Given the description of an element on the screen output the (x, y) to click on. 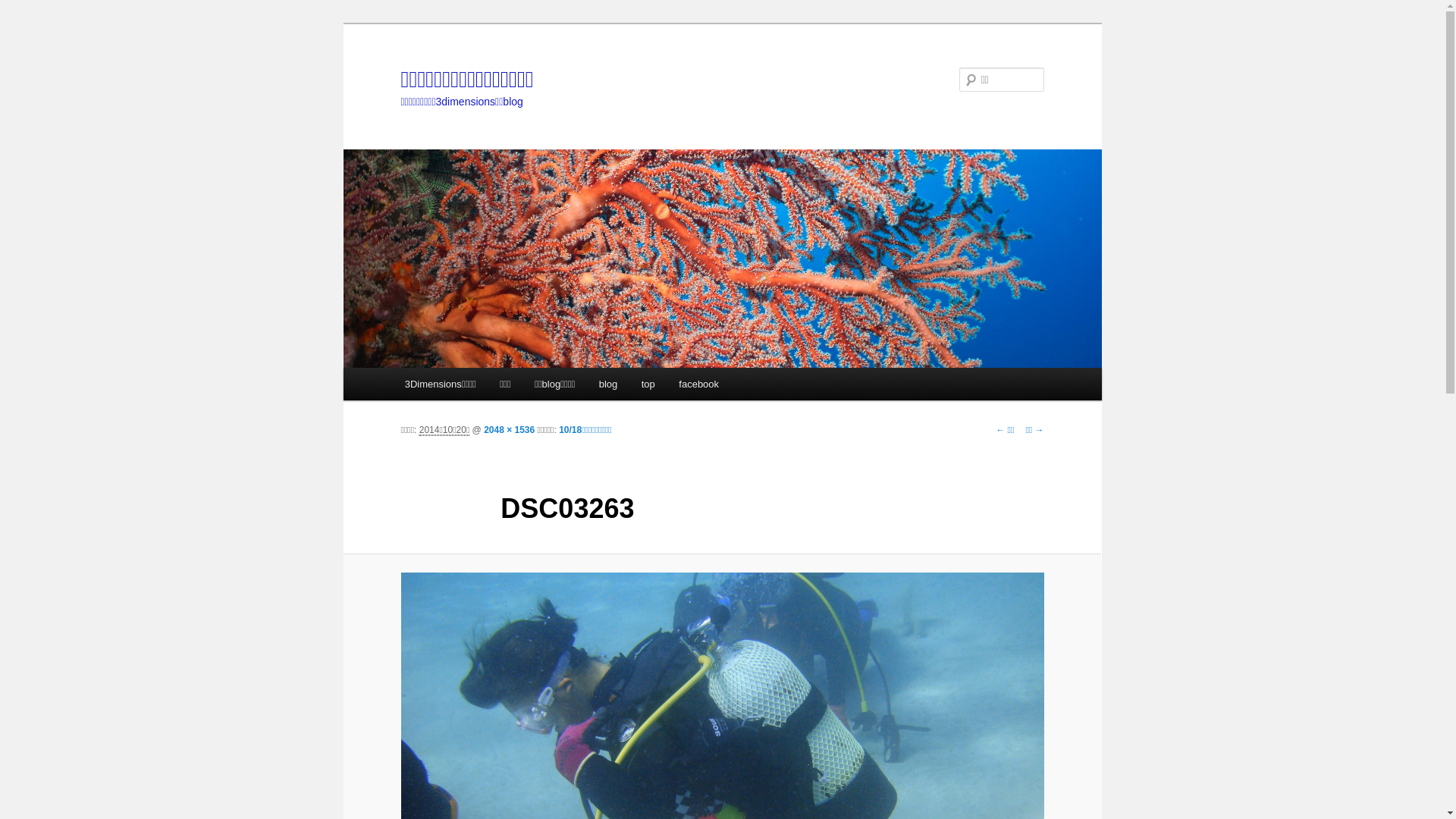
top Element type: text (648, 383)
blog Element type: text (607, 383)
facebook Element type: text (699, 383)
